Given the description of an element on the screen output the (x, y) to click on. 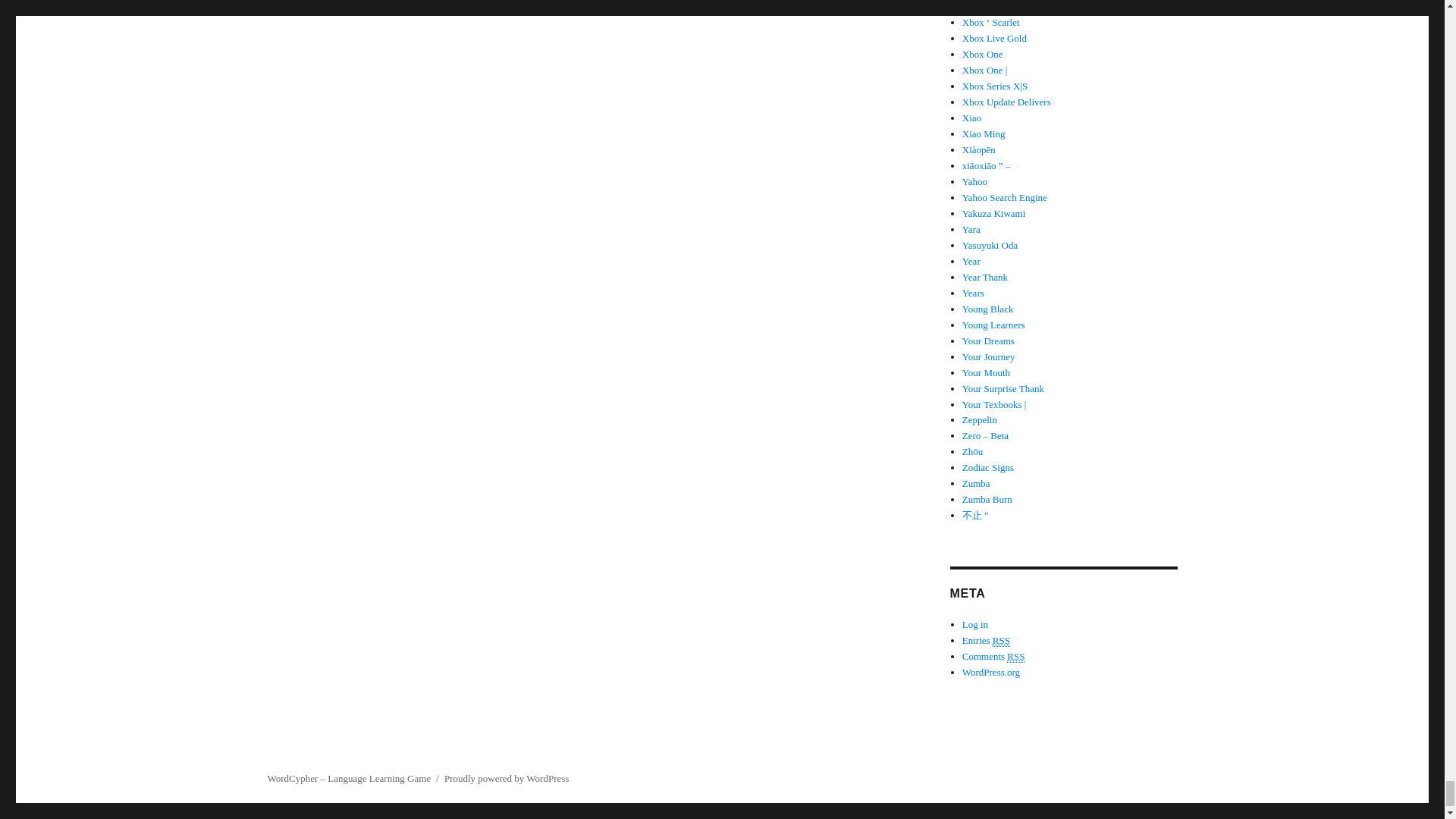
Really Simple Syndication (1016, 656)
Really Simple Syndication (1001, 640)
